Given the description of an element on the screen output the (x, y) to click on. 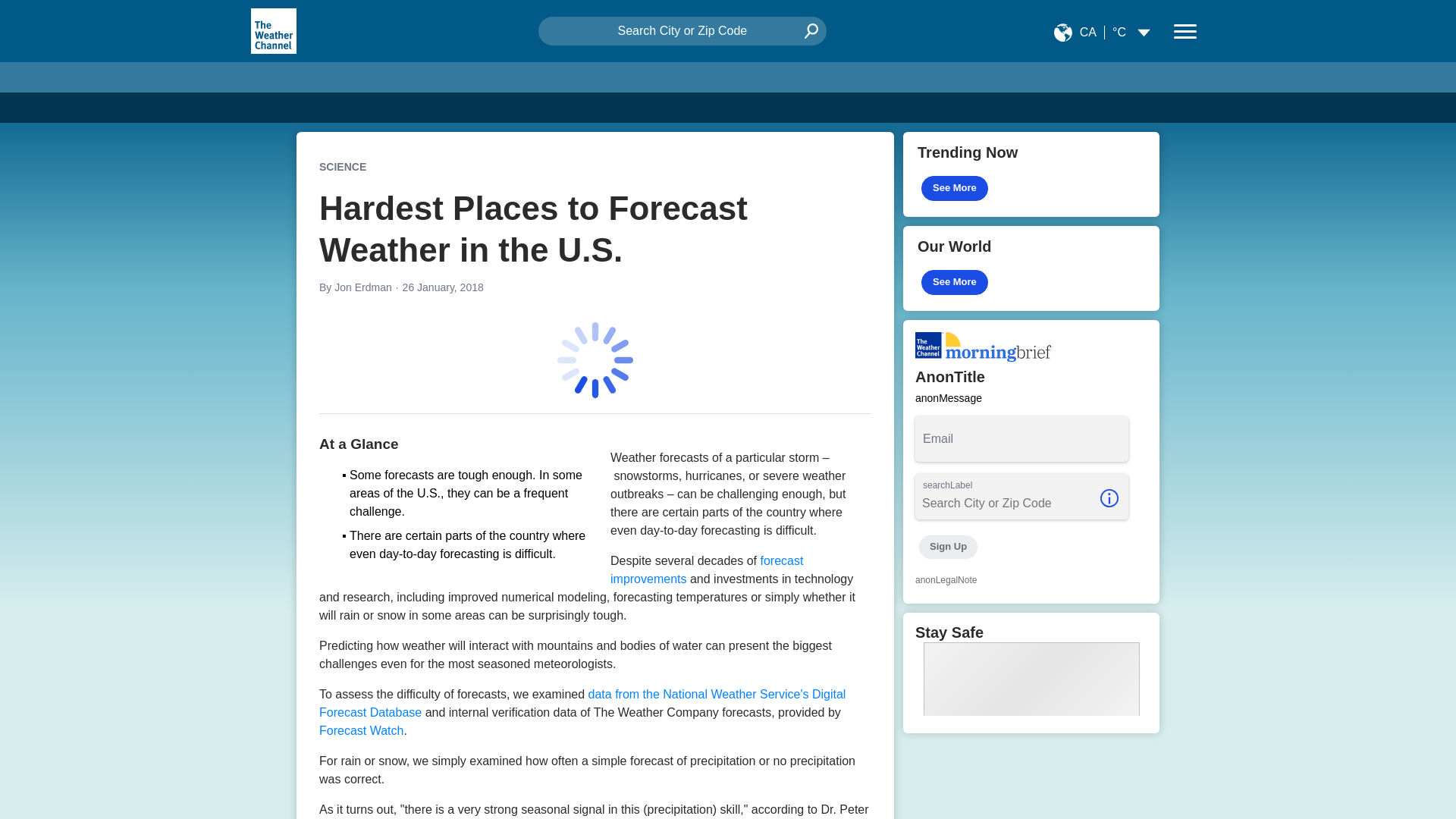
See More (954, 282)
Stay Safe (1030, 672)
The Weather Channel (273, 30)
See More (954, 188)
forecast improvements (706, 569)
The Weather Channel (273, 31)
Our World (1030, 268)
Forecast Watch (360, 730)
Trending Now (1030, 174)
